Given the description of an element on the screen output the (x, y) to click on. 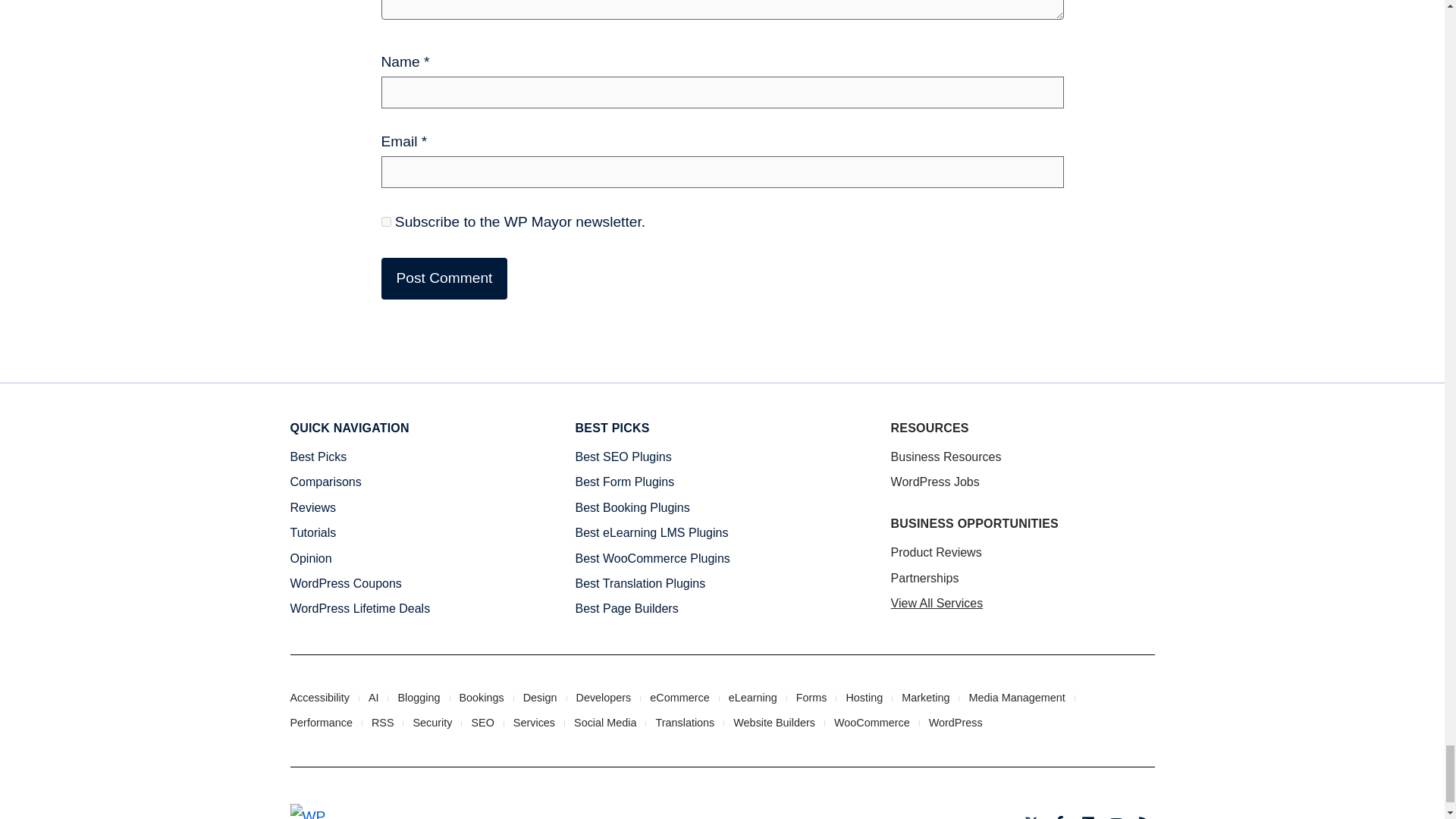
Post Comment (443, 278)
1 (385, 221)
